Given the description of an element on the screen output the (x, y) to click on. 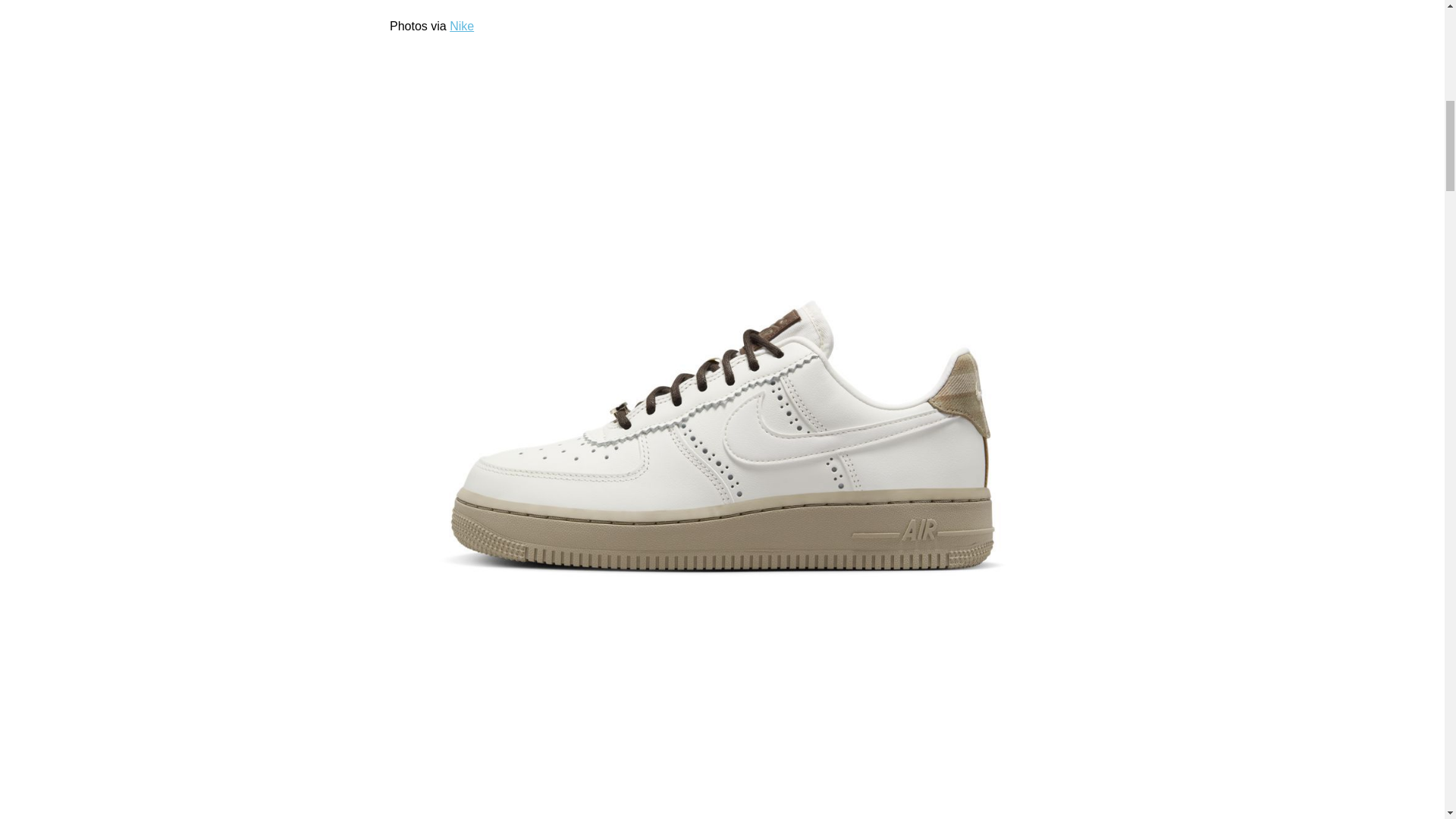
Nike (461, 25)
